Given the description of an element on the screen output the (x, y) to click on. 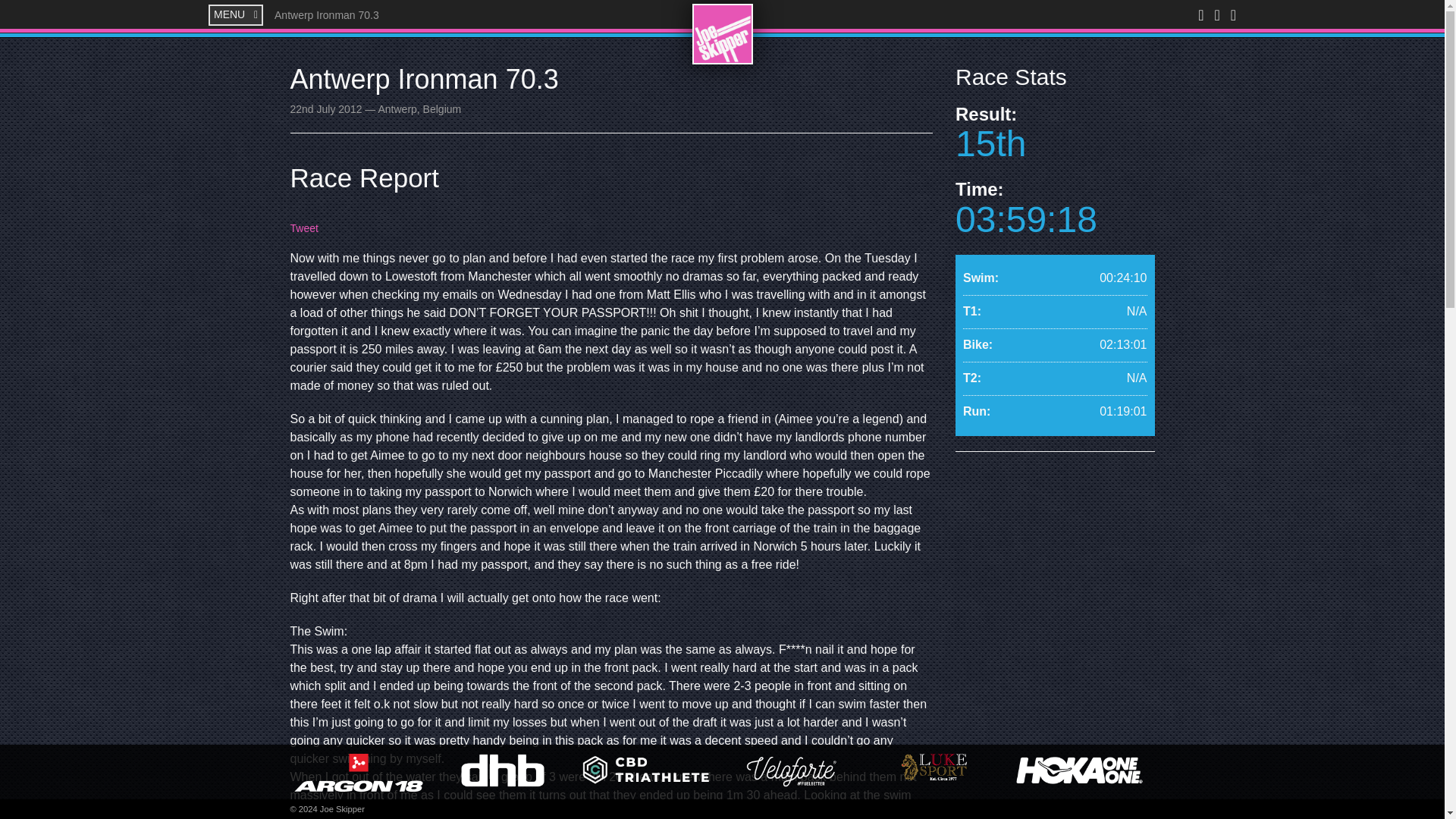
Tweet (303, 227)
MENU   (235, 14)
